Given the description of an element on the screen output the (x, y) to click on. 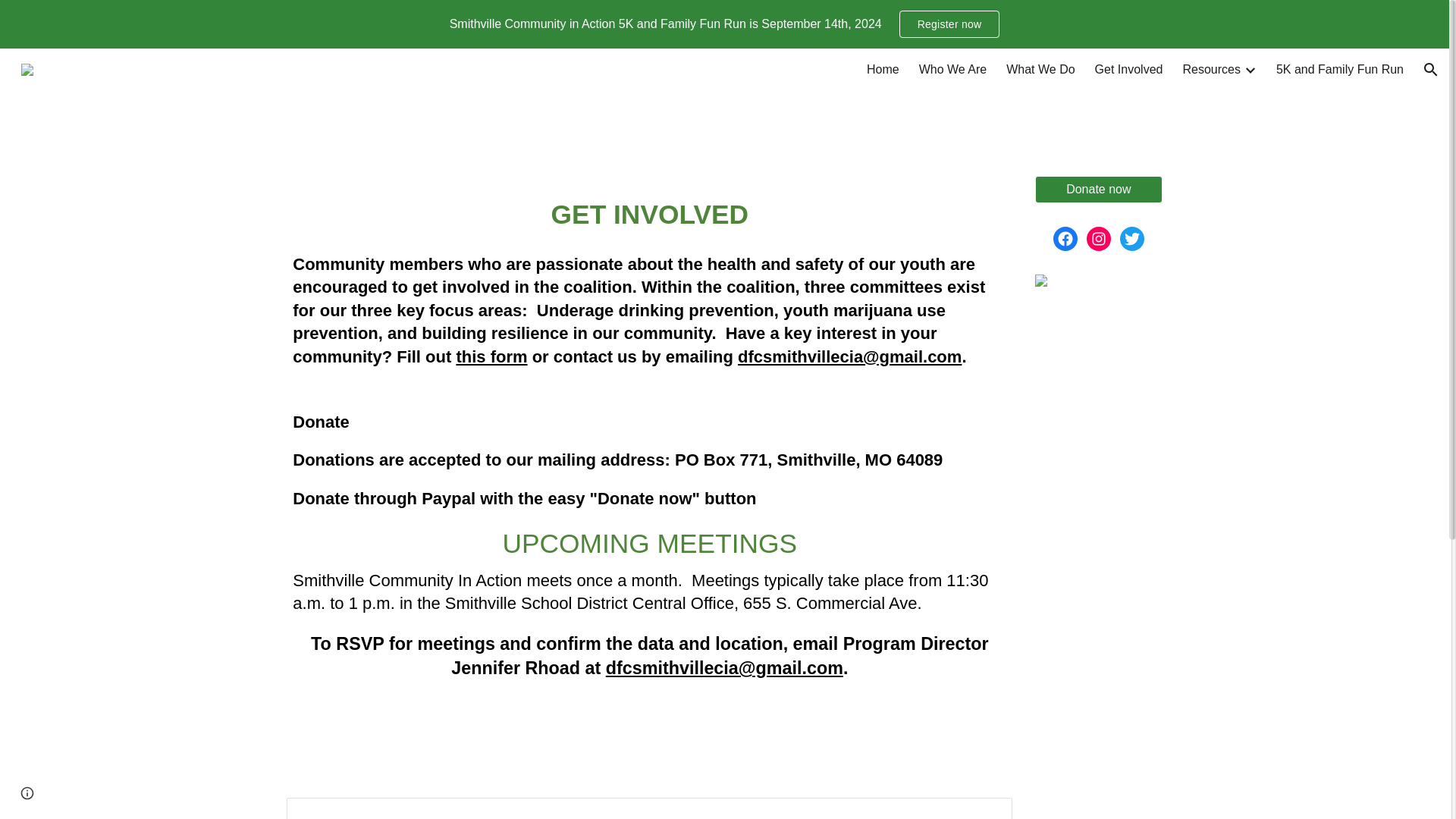
Resources (1211, 69)
Register now (949, 23)
this form (491, 358)
Register now (948, 23)
What We Do (1040, 69)
Get Involved (1128, 69)
Who We Are (952, 69)
Home (882, 69)
5K and Family Fun Run (1339, 69)
